Given the description of an element on the screen output the (x, y) to click on. 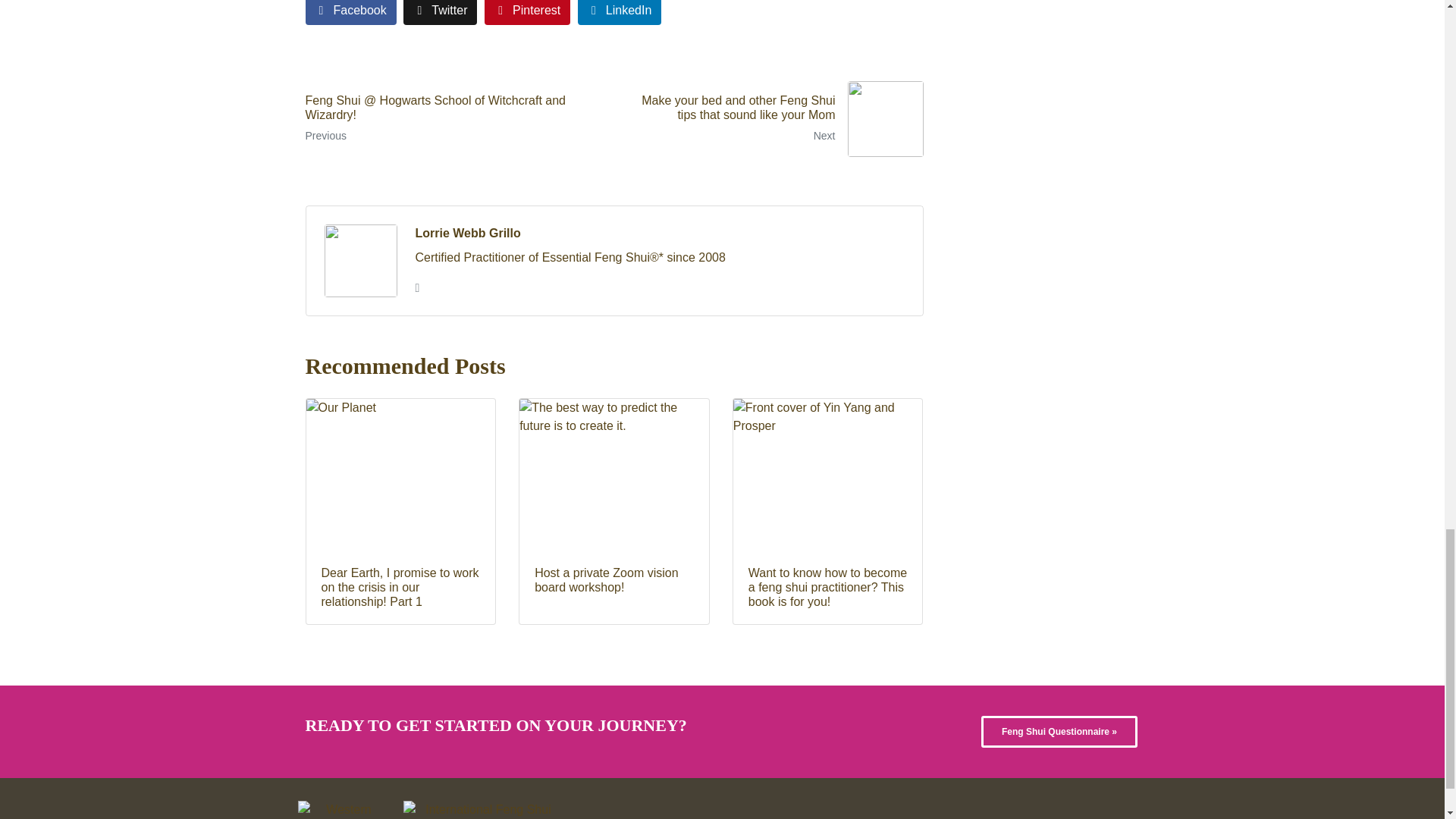
Facebook (350, 12)
International Feng Shui Guild (482, 809)
Western School of Feng Shui 1996 (342, 809)
